Given the description of an element on the screen output the (x, y) to click on. 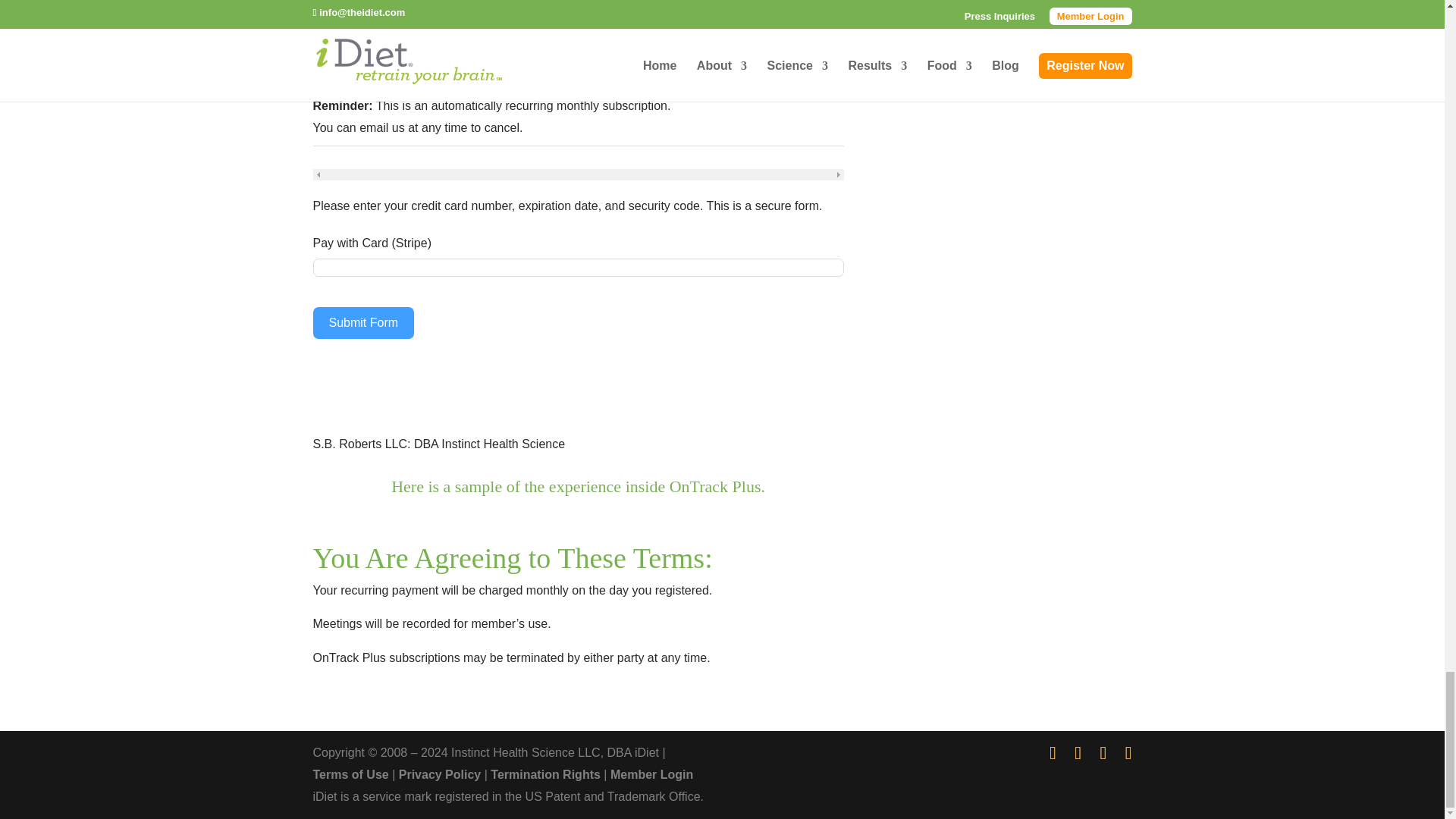
Terms of Use (350, 774)
Termination Rights (544, 774)
Privacy Policy (439, 774)
